Given the description of an element on the screen output the (x, y) to click on. 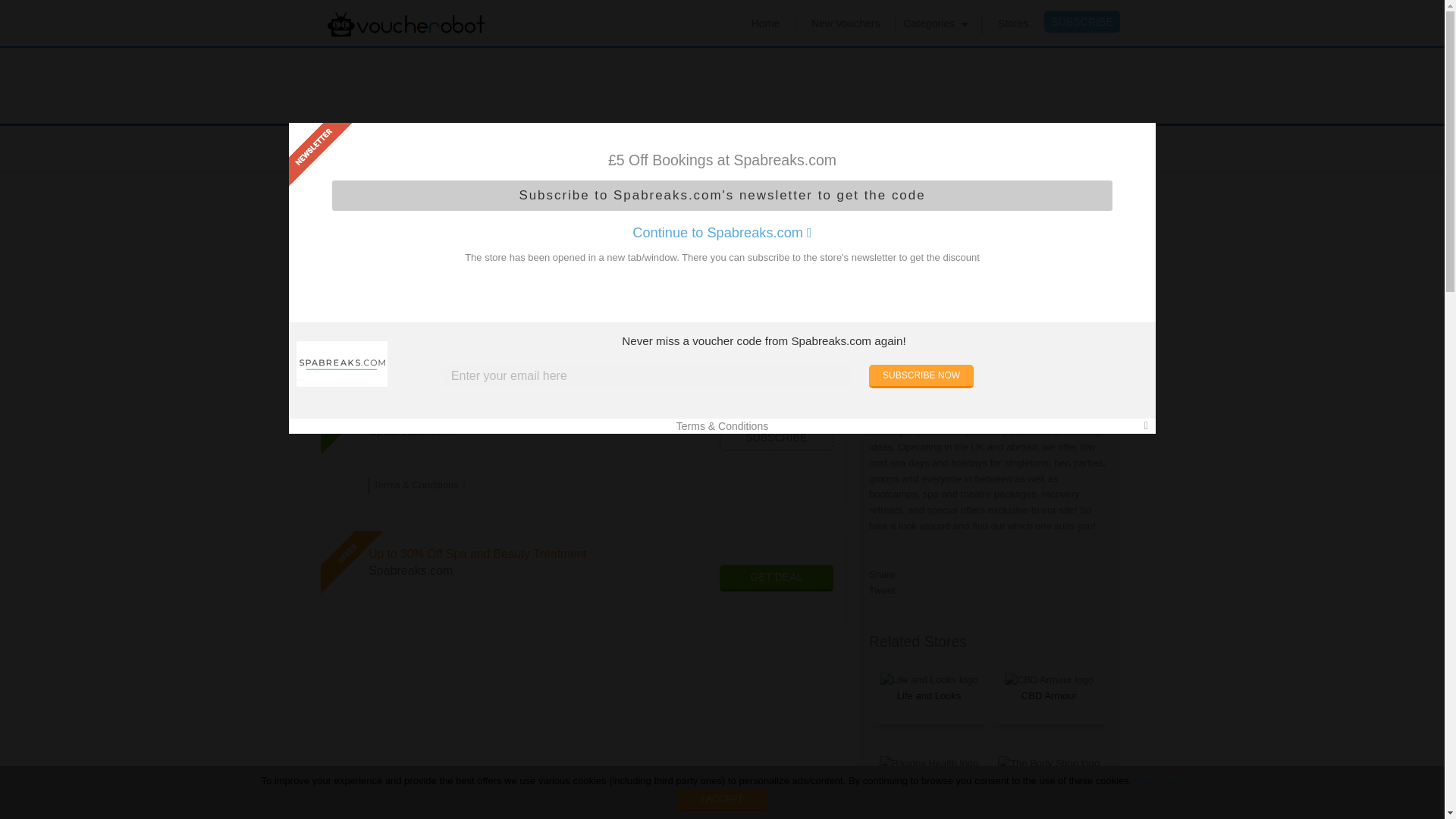
Home (764, 23)
New Vouchers (844, 23)
Categories (928, 23)
Stores (1012, 23)
Search (1025, 148)
SUBSCRIBE (1082, 21)
